Given the description of an element on the screen output the (x, y) to click on. 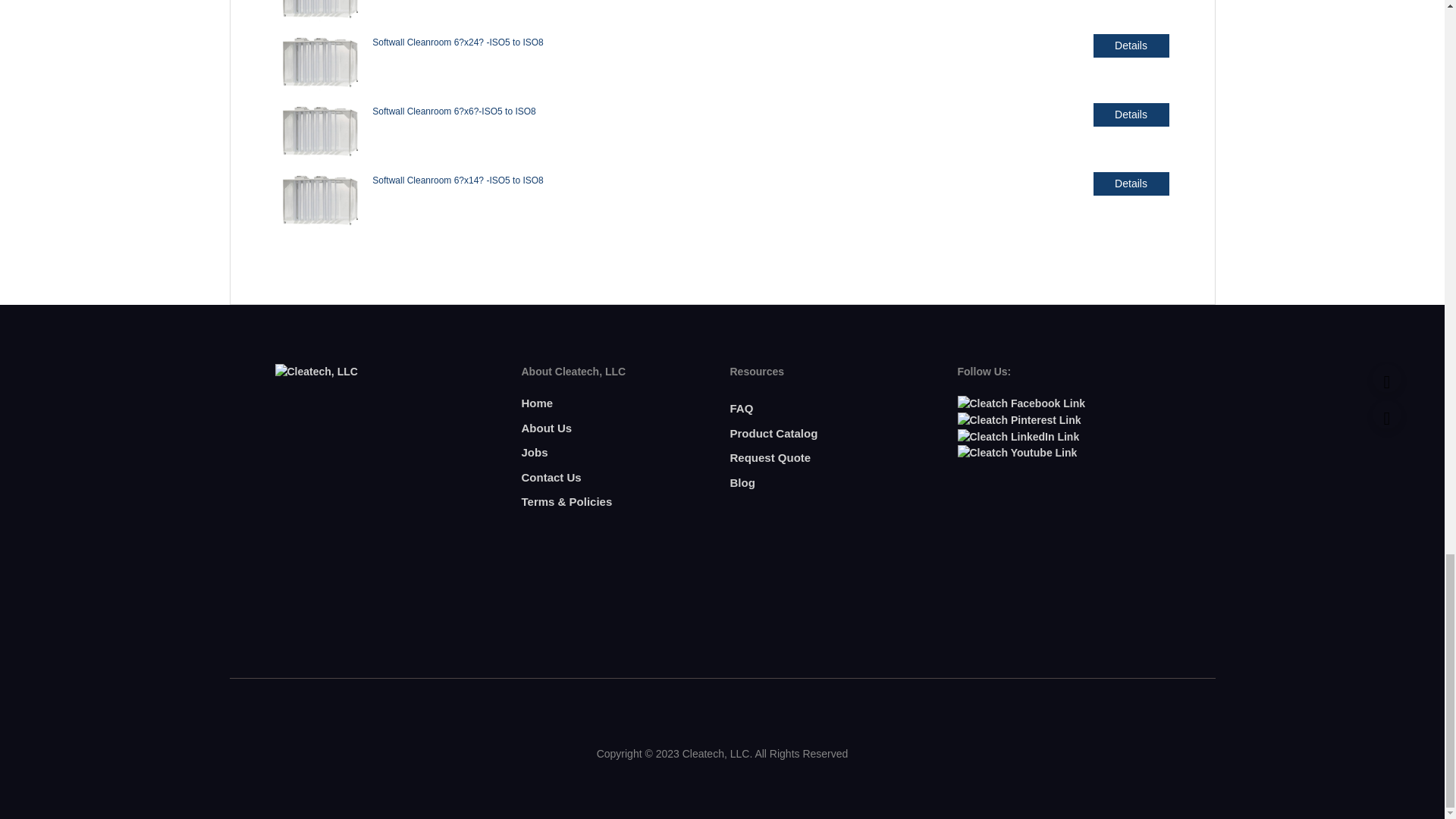
Softwall Cleanroom 6?x14? -ISO5 to ISO8 (320, 202)
Cleatech Product Catalog (772, 432)
Softwall Cleanroom 6?x14? -ISO5 to ISO8 (457, 180)
Details (1131, 114)
Softwall Cleanroom 6?x24? -ISO5 to ISO8 (457, 42)
Softwall Cleanroom 6?x6?-ISO5 to ISO8 (320, 133)
About Cleatech (546, 427)
Details (1131, 45)
Details (1131, 183)
Contact Cleatech (550, 477)
Softwall Cleanroom 6?x24? -ISO5 to ISO8 (320, 64)
Softwall Cleanroom 6?x6?-ISO5 to ISO8 (453, 110)
Softwall Cleanroom 10?x22? -ISO5 to ISO8 (320, 13)
Employment Opportunities at Cleatech (534, 451)
Cleatech Frequently Asked Questions (740, 408)
